Given the description of an element on the screen output the (x, y) to click on. 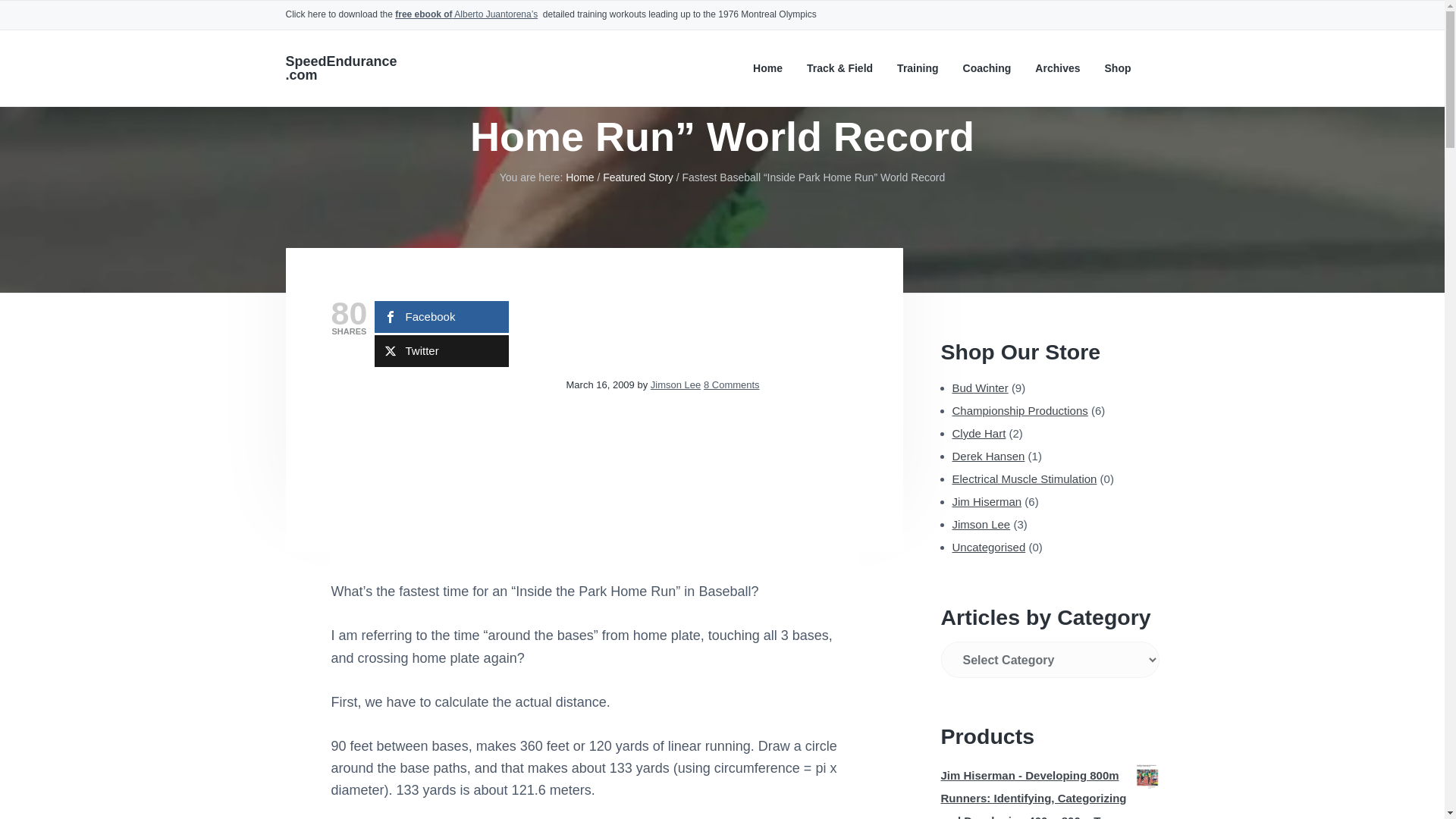
Search (60, 18)
Coaching (986, 67)
Home (767, 67)
SpeedEndurance.com (340, 68)
8 Comments (731, 384)
Training (916, 67)
Archives (1057, 67)
Home (580, 177)
Facebook (441, 316)
